Given the description of an element on the screen output the (x, y) to click on. 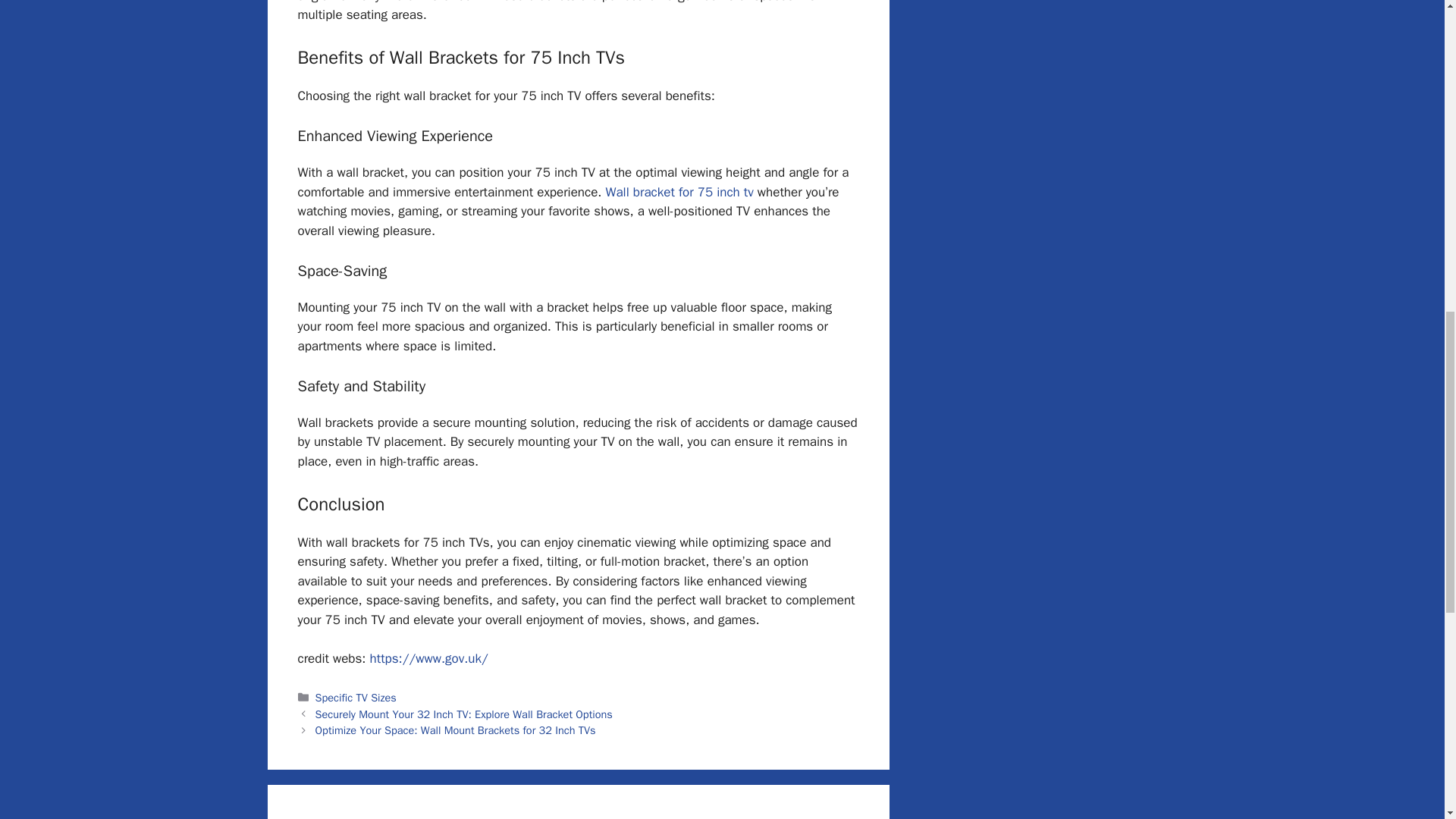
Optimize Your Space: Wall Mount Brackets for 32 Inch TVs (455, 730)
Wall bracket for 75 inch tv (679, 191)
Specific TV Sizes (355, 697)
Securely Mount Your 32 Inch TV: Explore Wall Bracket Options (463, 714)
